Given the description of an element on the screen output the (x, y) to click on. 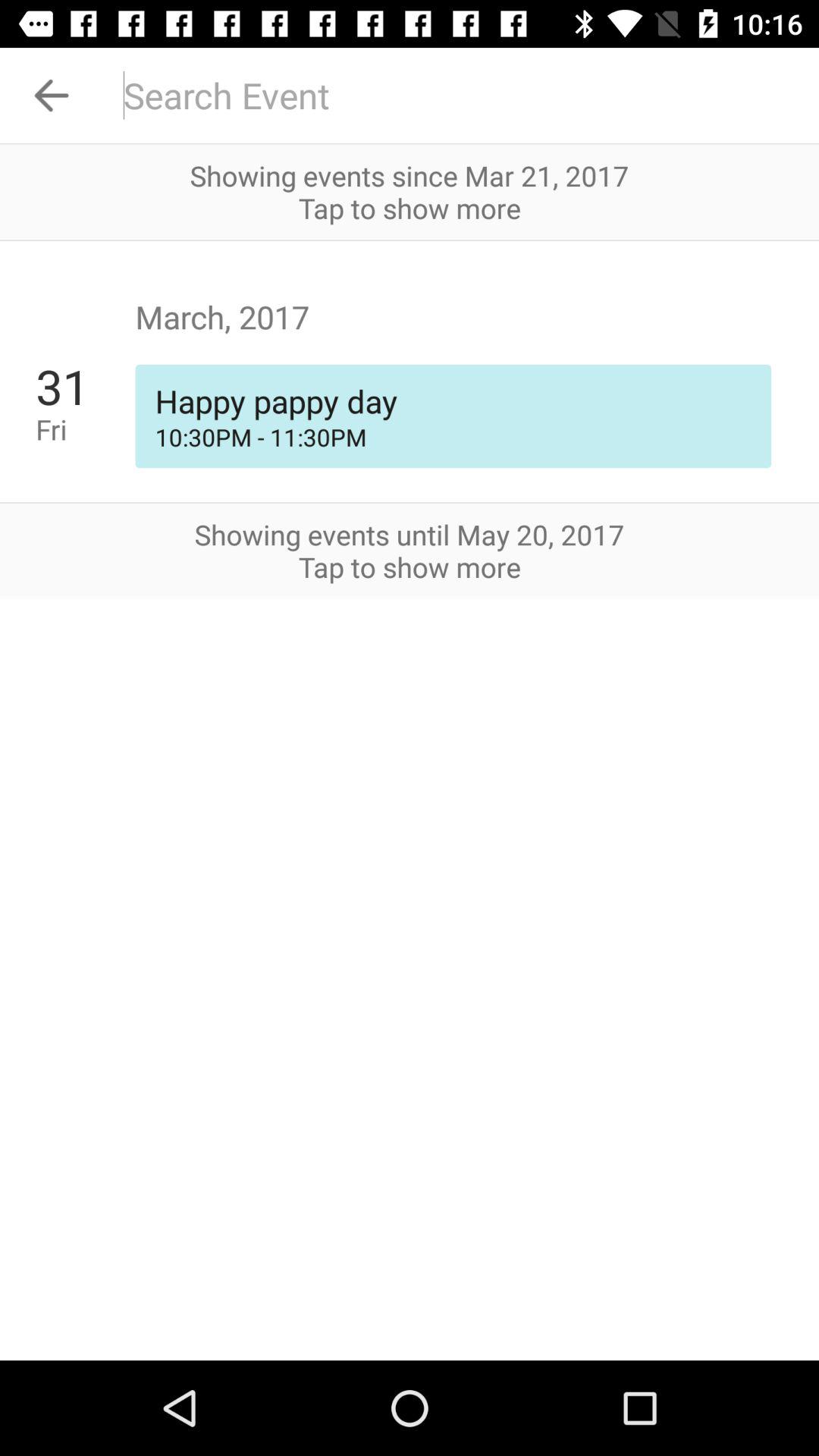
click icon below showing events since app (409, 240)
